Given the description of an element on the screen output the (x, y) to click on. 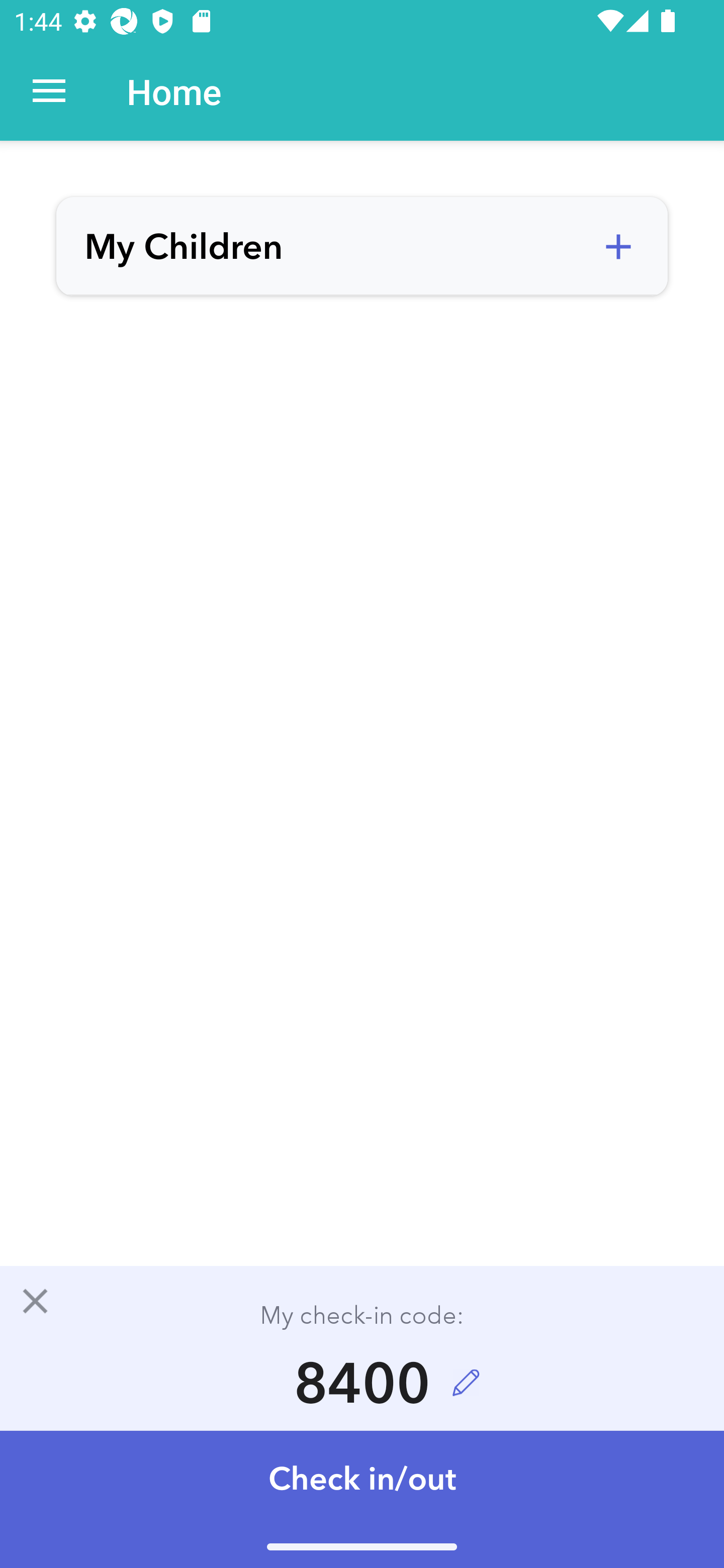
Open navigation drawer (49, 91)
Add a Child (618, 246)
Close check-in code panel My check-in code: 8400 (362, 1347)
Close check-in code panel (35, 1300)
Check in/out (362, 1499)
